Given the description of an element on the screen output the (x, y) to click on. 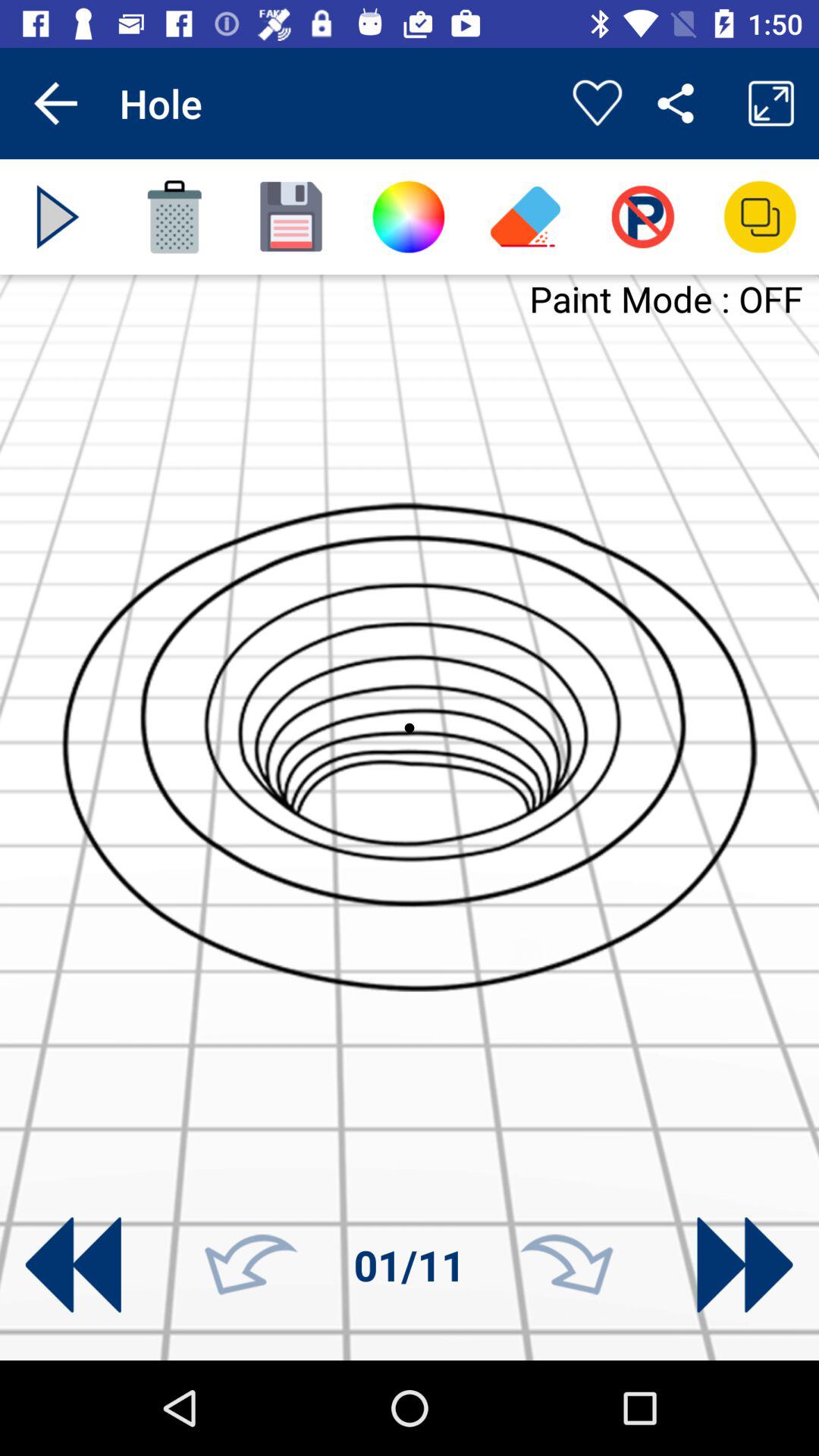
toggle save button (291, 216)
